Given the description of an element on the screen output the (x, y) to click on. 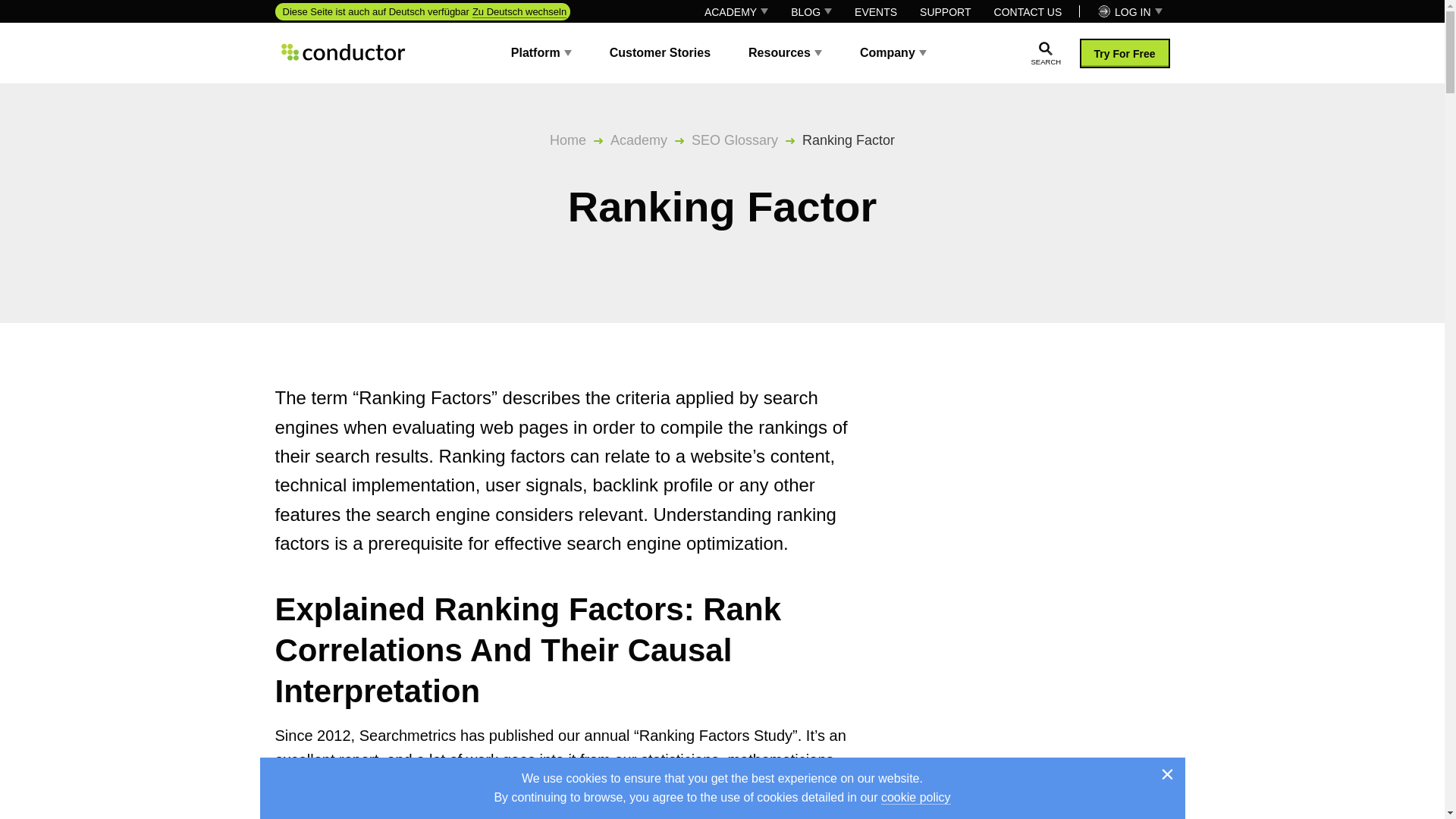
Company (893, 52)
Customer Stories (659, 52)
Resources (785, 52)
ACADEMY (736, 11)
Platform (541, 52)
